Given the description of an element on the screen output the (x, y) to click on. 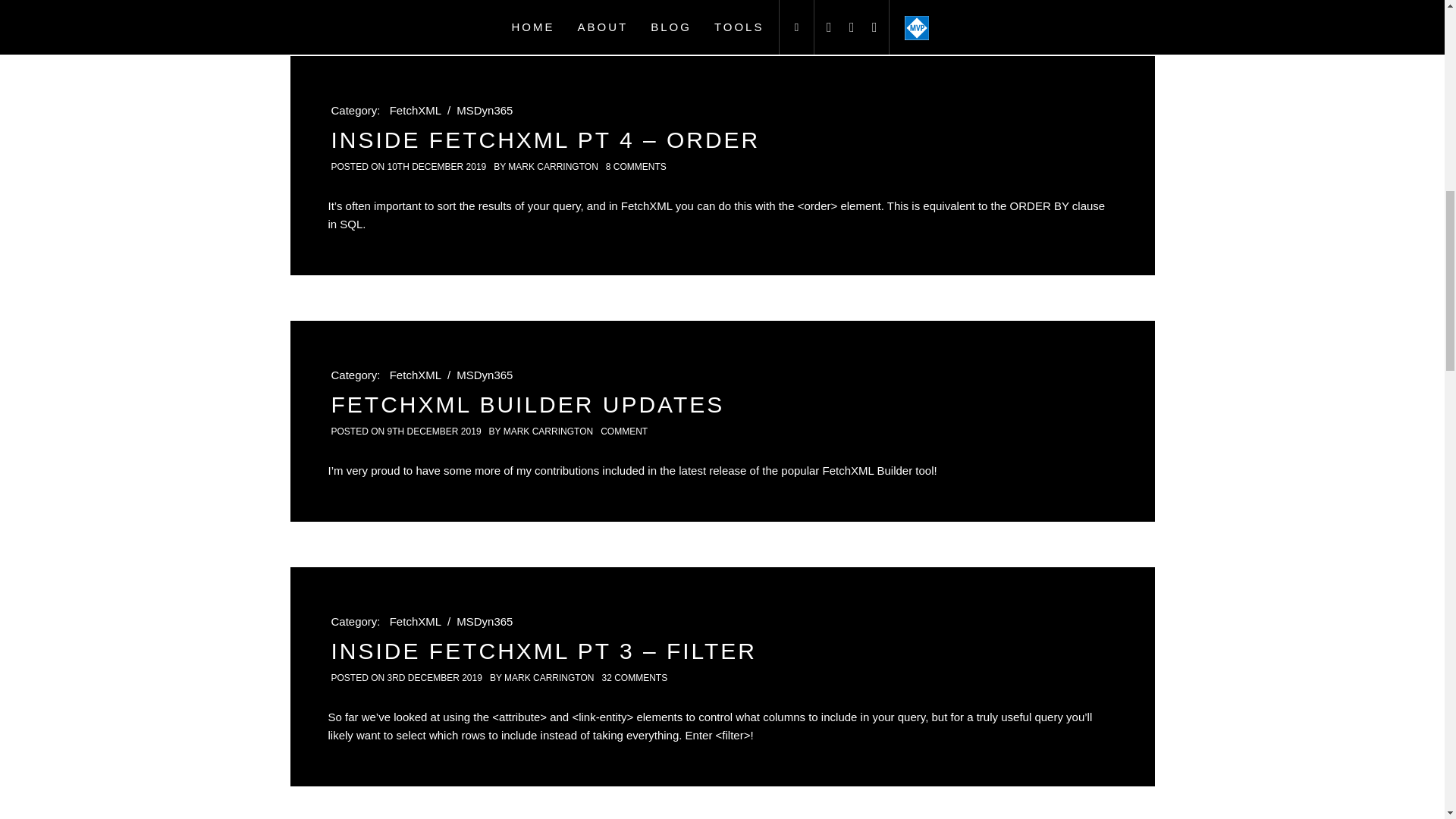
MARK CARRINGTON (547, 430)
10TH DECEMBER 2019 (436, 166)
COMMENT (623, 430)
MSDyn365 (483, 109)
FETCHXML BUILDER UPDATES (526, 404)
9TH DECEMBER 2019 (434, 430)
8 COMMENTS (635, 166)
MSDyn365 (483, 374)
MARK CARRINGTON (552, 166)
FetchXML (415, 374)
